Given the description of an element on the screen output the (x, y) to click on. 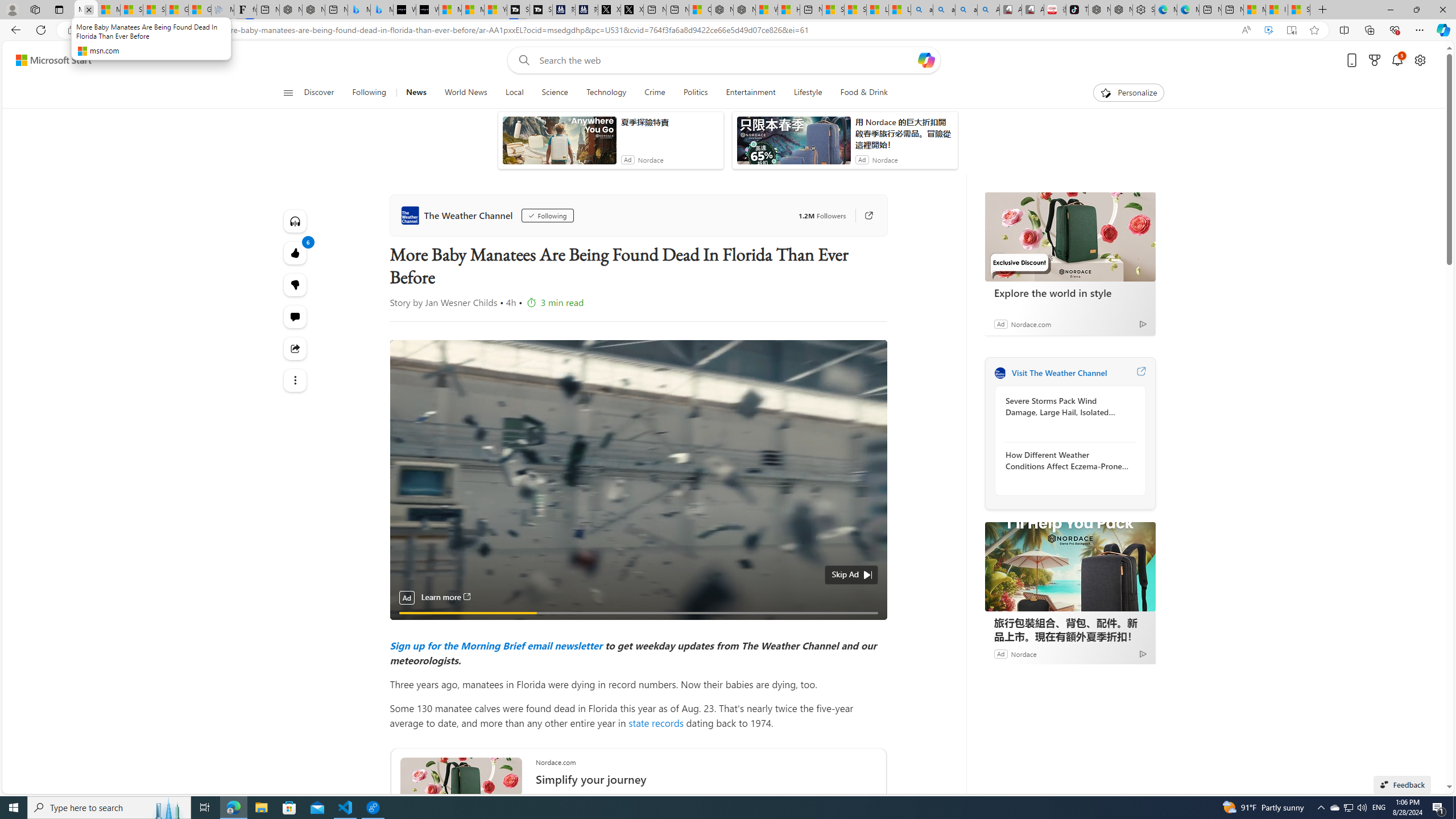
Ad Choice (1142, 653)
What's the best AI voice generator? - voice.ai (427, 9)
Crime (655, 92)
Settings (1143, 9)
The Weather Channel (458, 215)
Technology (605, 92)
Shanghai, China weather forecast | Microsoft Weather (154, 9)
Listen to this article (295, 220)
Nordace Siena Pro 15 Backpack (1121, 9)
To get missing image descriptions, open the context menu. (1105, 92)
Pause (406, 626)
